Given the description of an element on the screen output the (x, y) to click on. 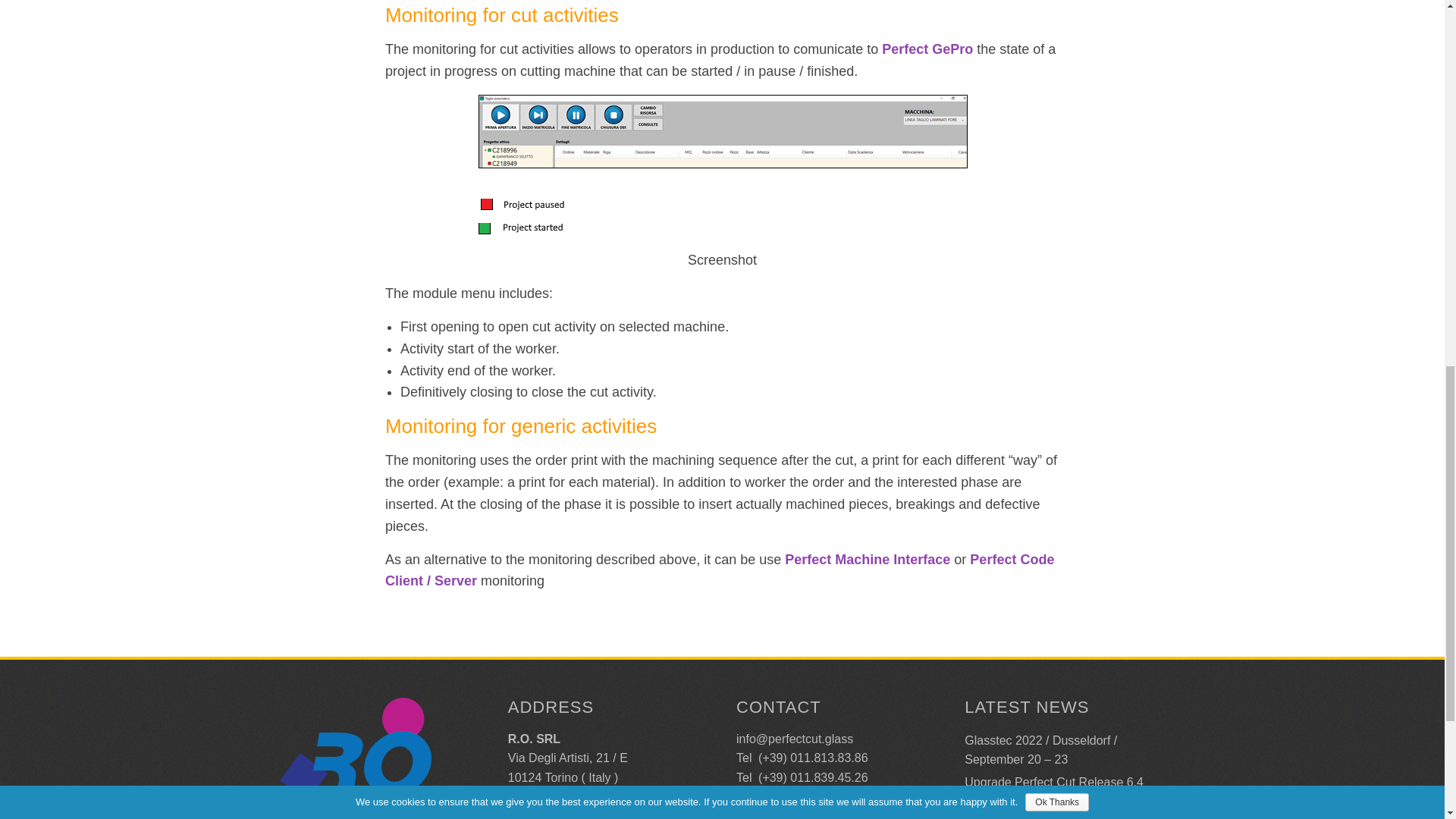
Perfect Machine Interface (867, 559)
Logo RO (354, 758)
CONTACT (778, 706)
Perfect GePro (927, 48)
